Given the description of an element on the screen output the (x, y) to click on. 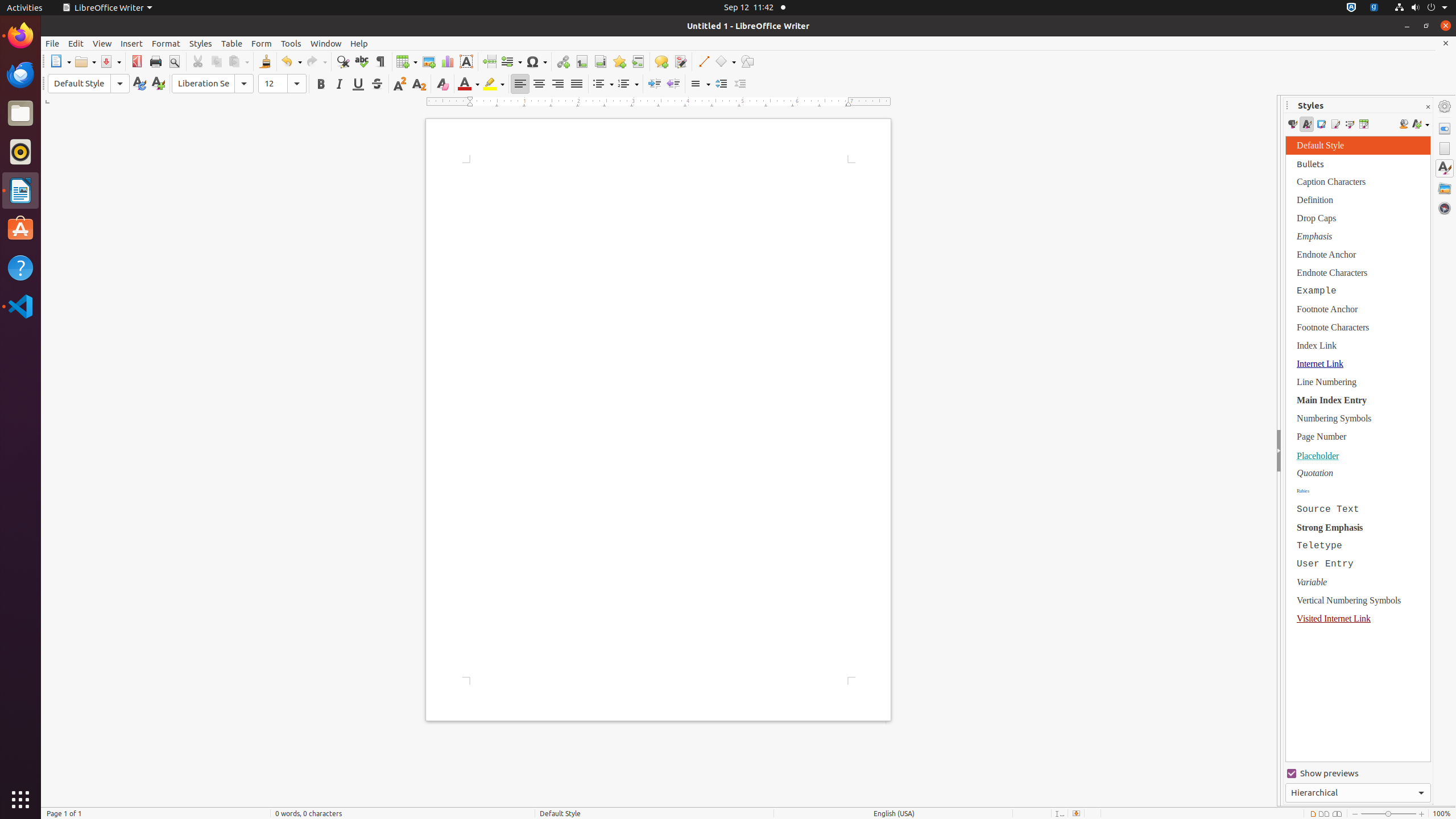
New Element type: push-button (157, 83)
Find & Replace Element type: toggle-button (342, 61)
LibreOffice Writer Element type: push-button (20, 190)
Bullets Element type: push-button (602, 83)
Text Box Element type: push-button (465, 61)
